Given the description of an element on the screen output the (x, y) to click on. 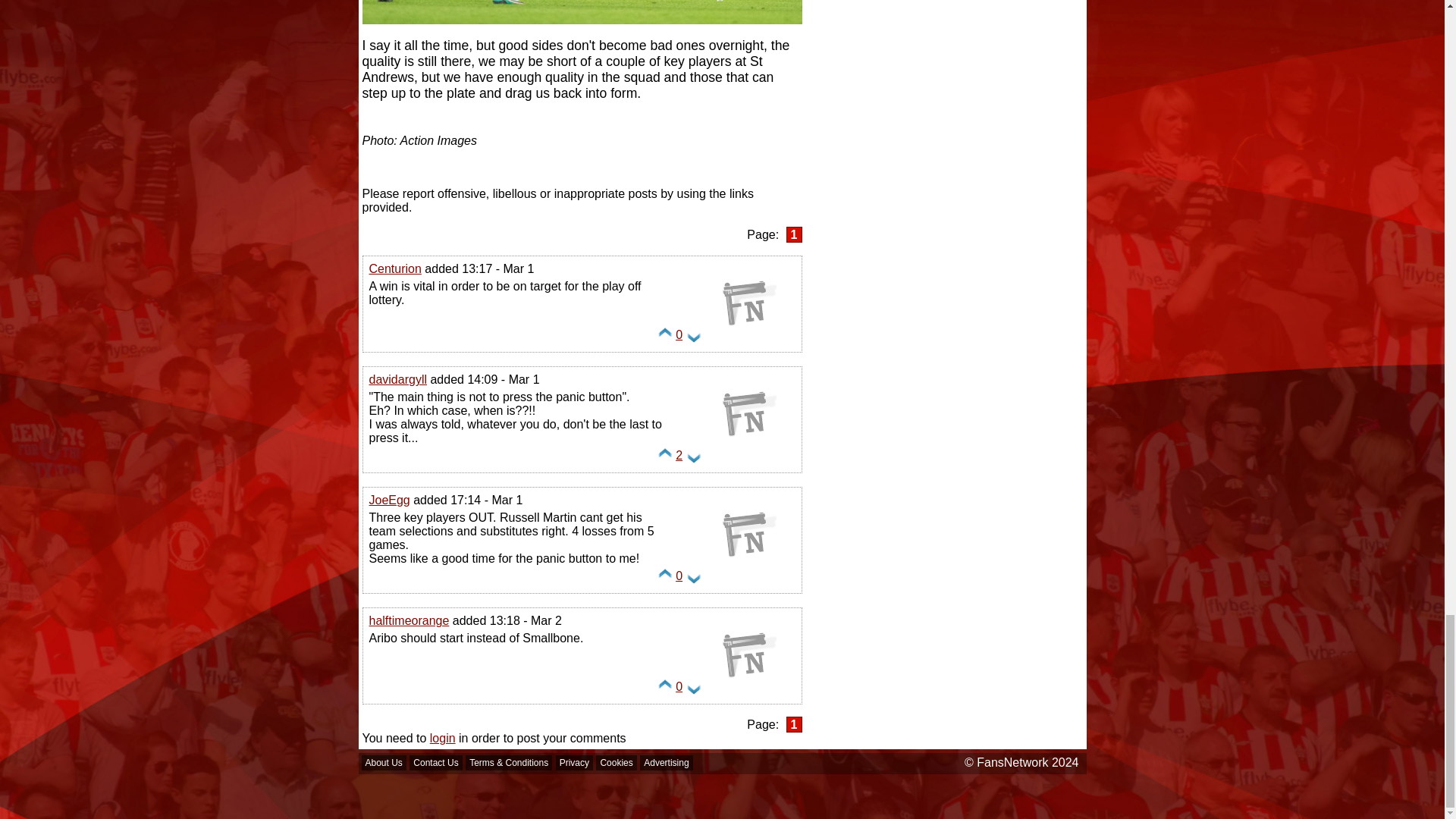
Click if you agree with this post (665, 689)
Click if you disagree with this post (692, 459)
JoeEgg is offline (749, 572)
Click if you disagree with this post (692, 579)
Click if you disagree with this post (692, 689)
Click if you agree with this post (665, 579)
Click if you agree with this post (665, 459)
Centurion is offline (749, 341)
davidargyll is offline (749, 451)
Click if you agree with this post (665, 338)
